Given the description of an element on the screen output the (x, y) to click on. 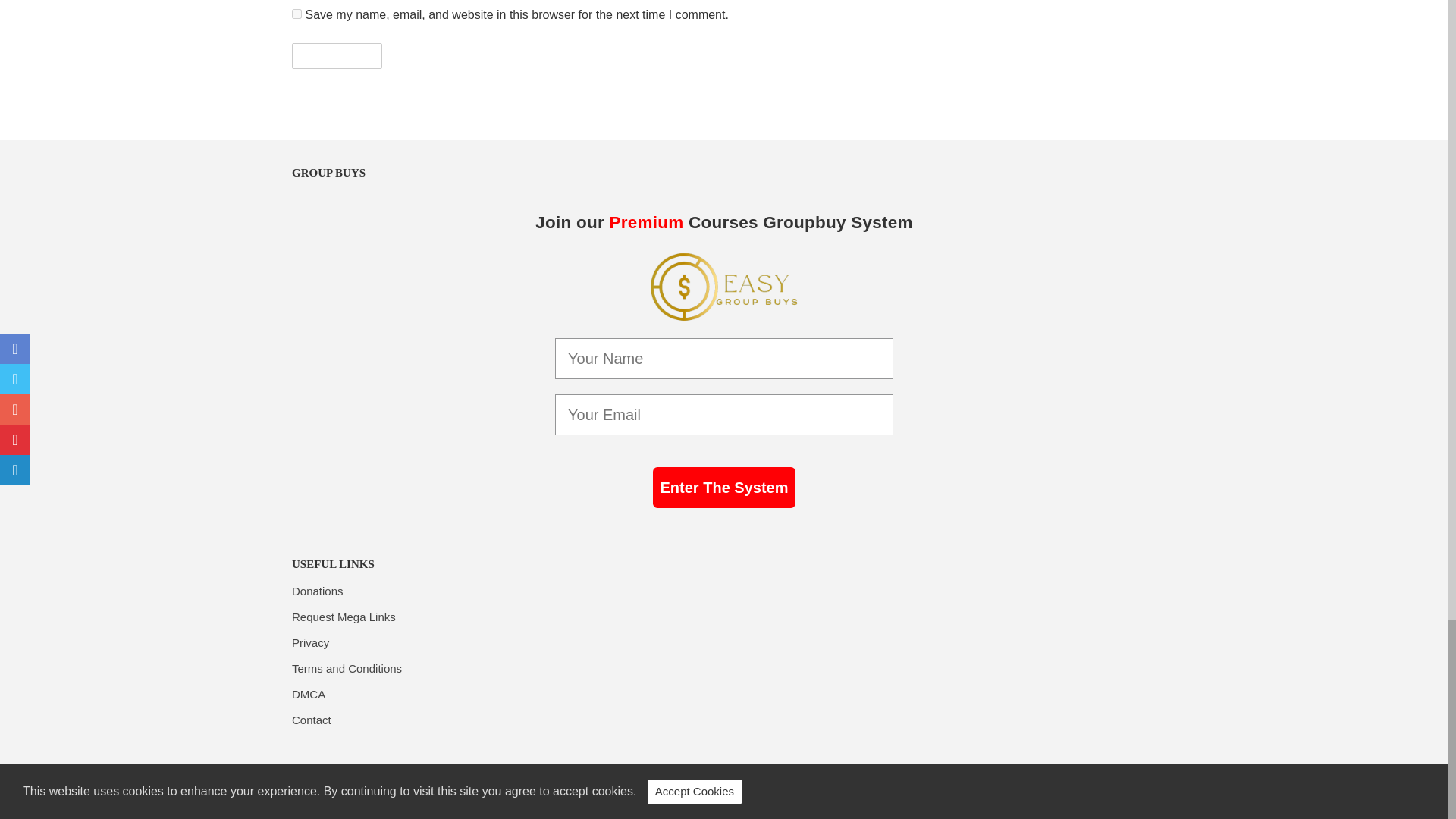
yes (296, 13)
Post Comment (336, 55)
